Given the description of an element on the screen output the (x, y) to click on. 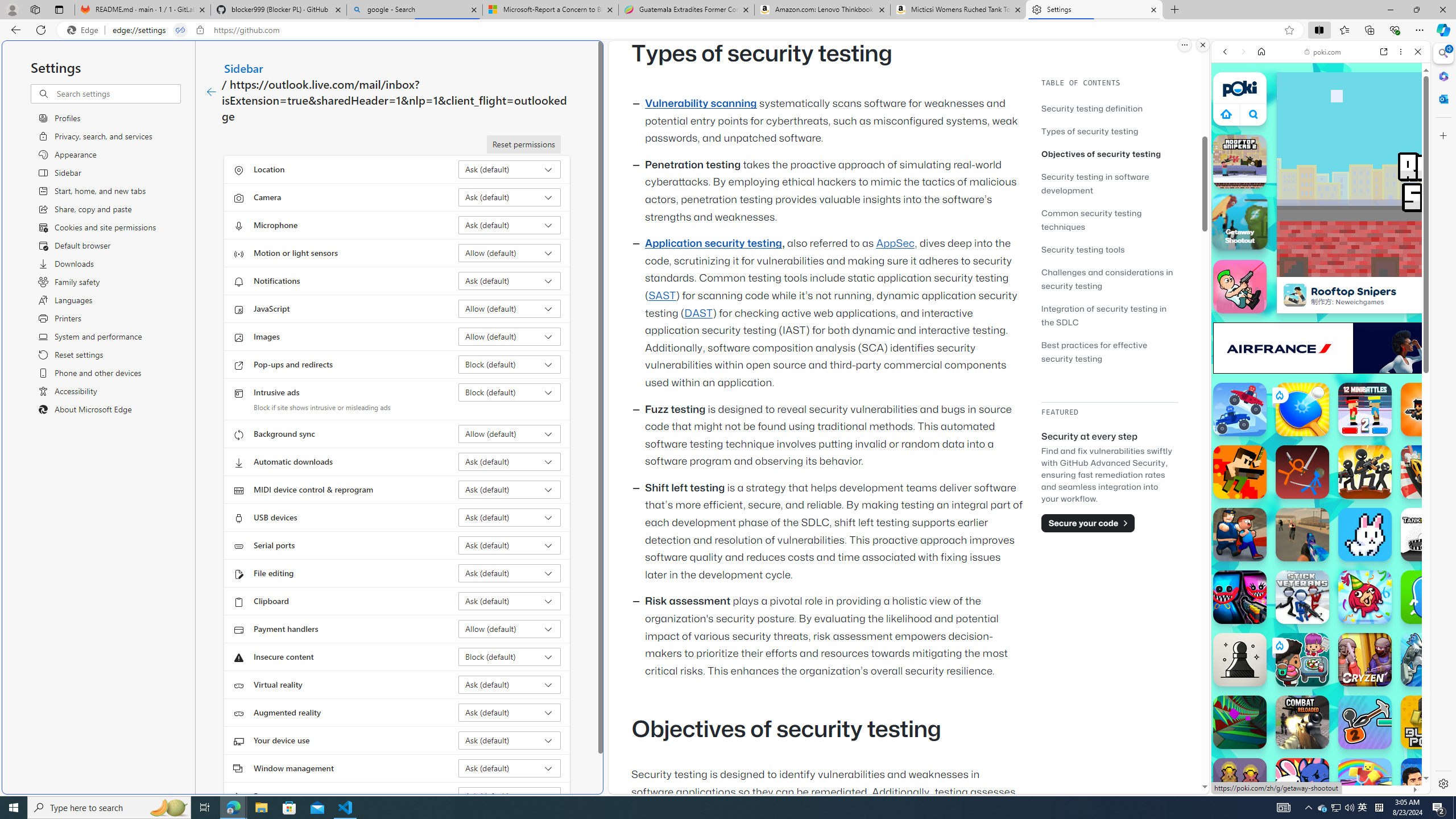
Rainbow Obby (1364, 784)
Objectives of security testing (1109, 153)
Combat Reloaded 2 (1302, 534)
Challenges and considerations in security testing (1109, 279)
PartyToons PartyToons (1364, 597)
Best practices for effective security testing (1094, 351)
12 Mini Battles 2 12 Mini Battles 2 (1364, 409)
Best practices for effective security testing (1109, 351)
Battle Wheels (1239, 409)
USB devices Ask (default) (509, 517)
